Given the description of an element on the screen output the (x, y) to click on. 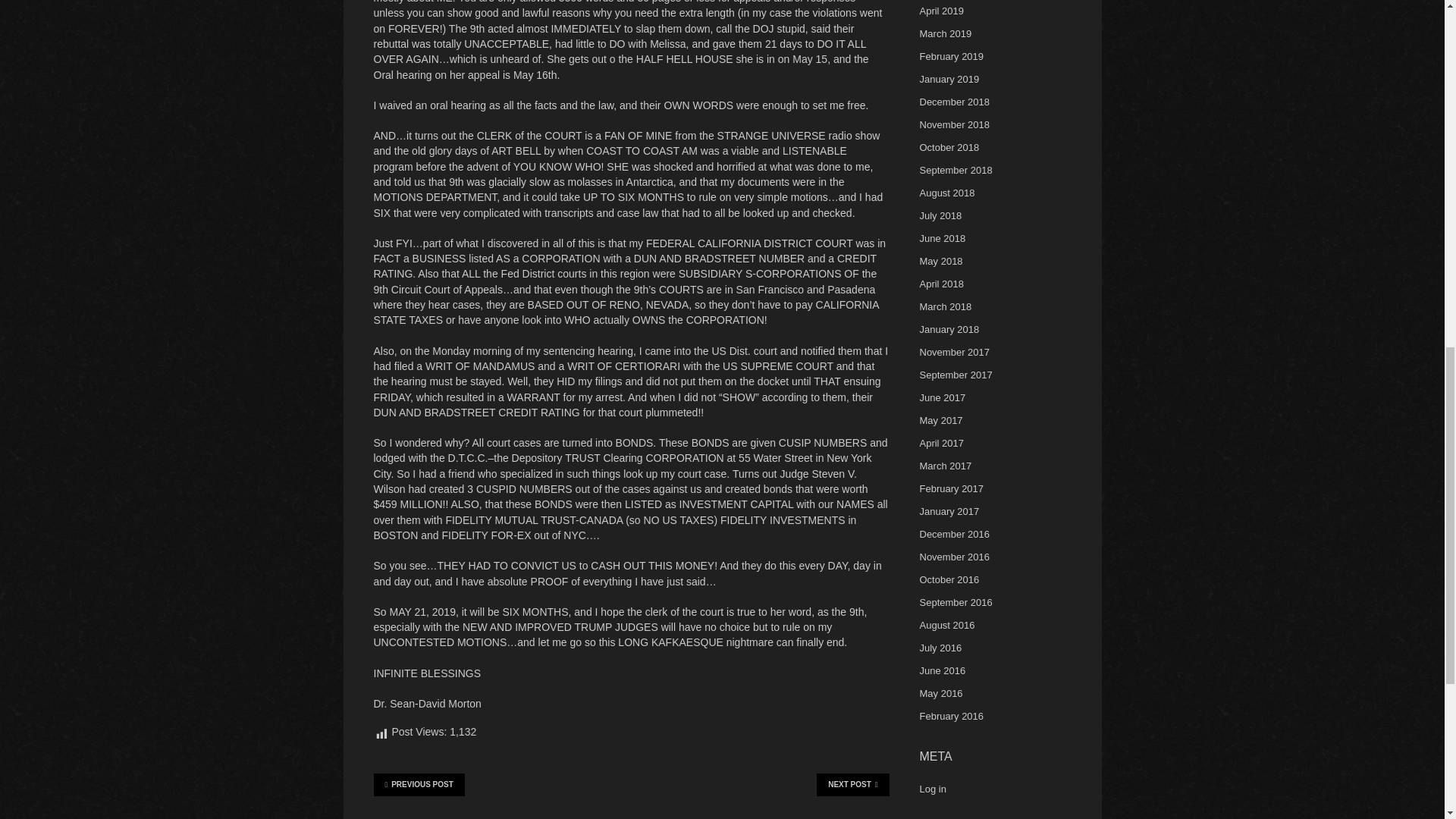
March 2019 (944, 33)
August 2018 (946, 193)
November 2018 (954, 124)
September 2018 (954, 170)
December 2018 (954, 101)
PREVIOUS POST (418, 784)
October 2018 (948, 147)
July 2018 (939, 215)
January 2019 (948, 79)
NEXT POST (852, 784)
April 2019 (940, 10)
February 2019 (951, 56)
June 2018 (941, 238)
